Given the description of an element on the screen output the (x, y) to click on. 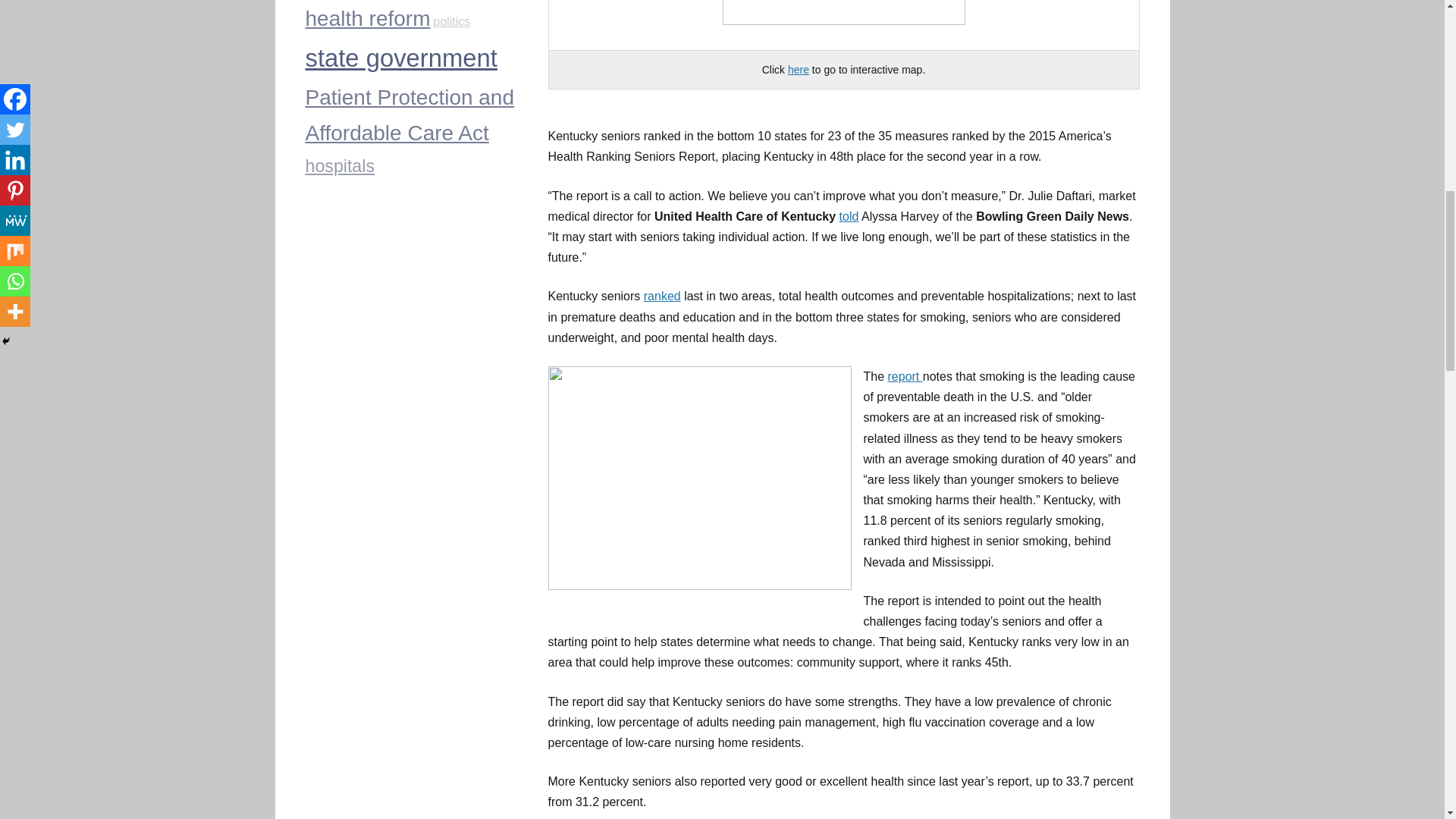
here (798, 69)
report (905, 376)
told (849, 215)
ranked (662, 295)
